Given the description of an element on the screen output the (x, y) to click on. 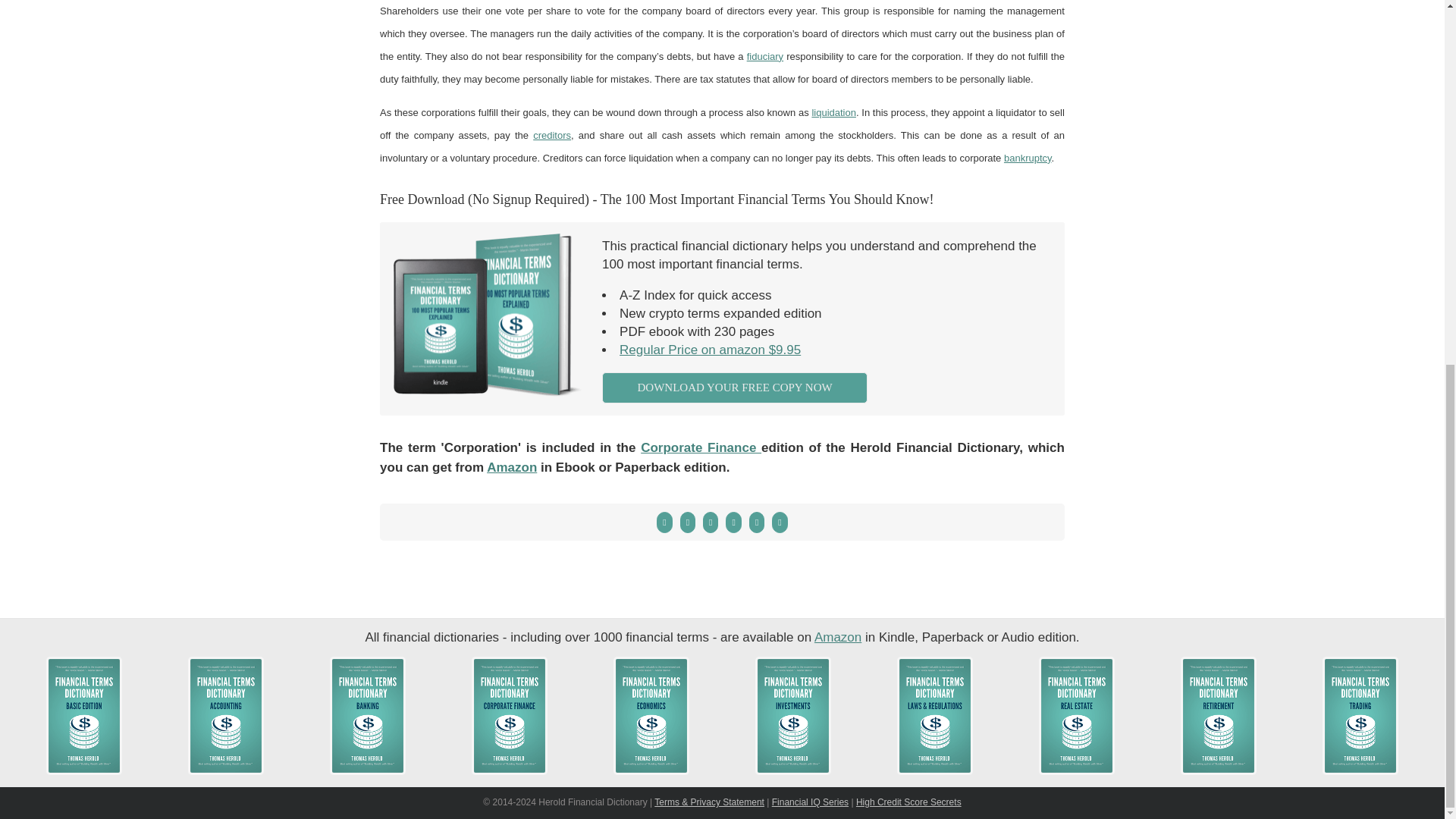
bankruptcy (1027, 157)
liquidation (833, 112)
Corporate Finance (700, 447)
fiduciary (764, 56)
creditors (551, 134)
DOWNLOAD YOUR FREE COPY NOW (734, 387)
